Given the description of an element on the screen output the (x, y) to click on. 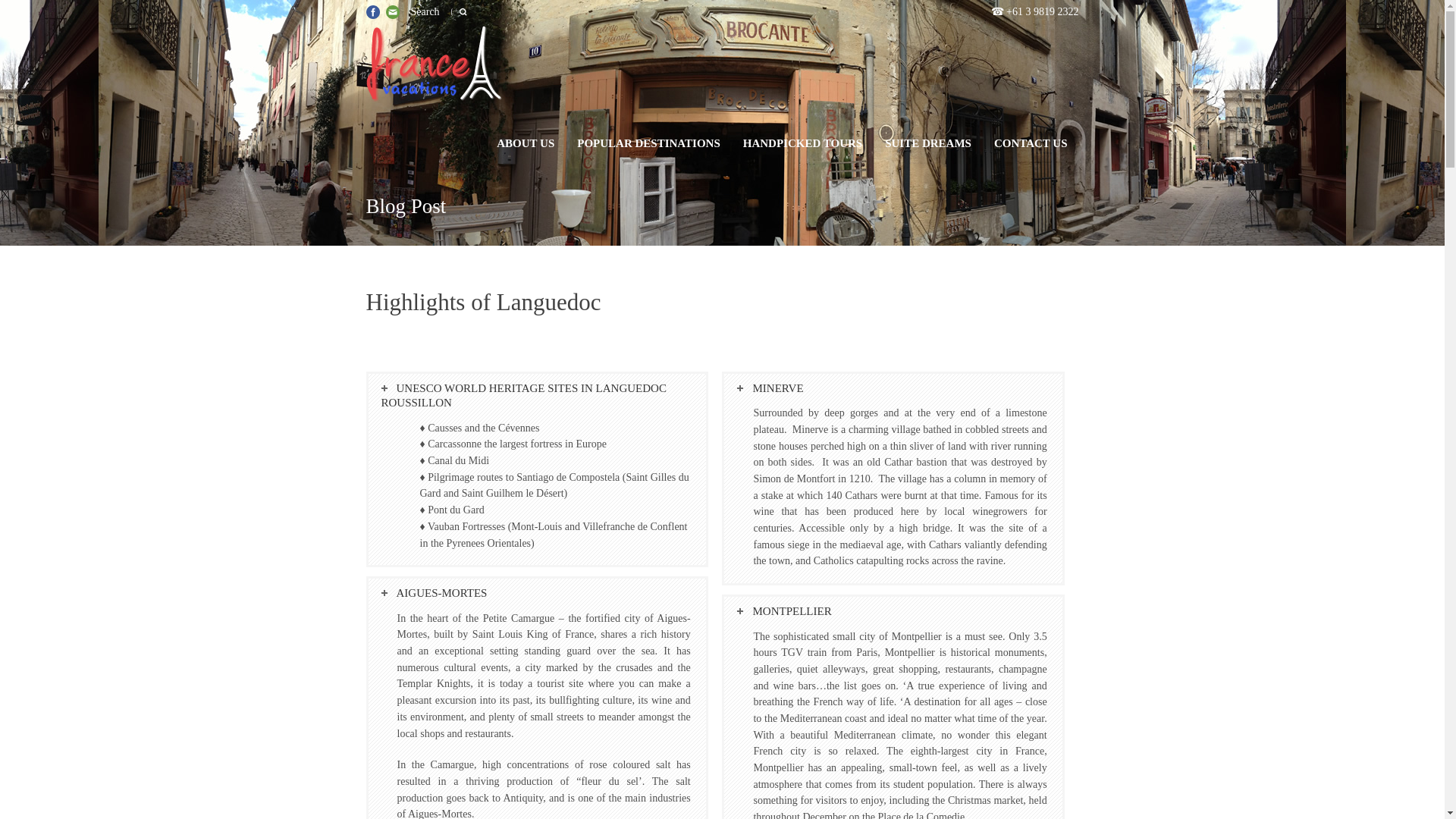
SUITE DREAMS (927, 143)
ABOUT US (525, 143)
POPULAR DESTINATIONS (649, 143)
HANDPICKED TOURS (802, 143)
CONTACT US (1030, 143)
Highlights of Languedoc (482, 317)
